Given the description of an element on the screen output the (x, y) to click on. 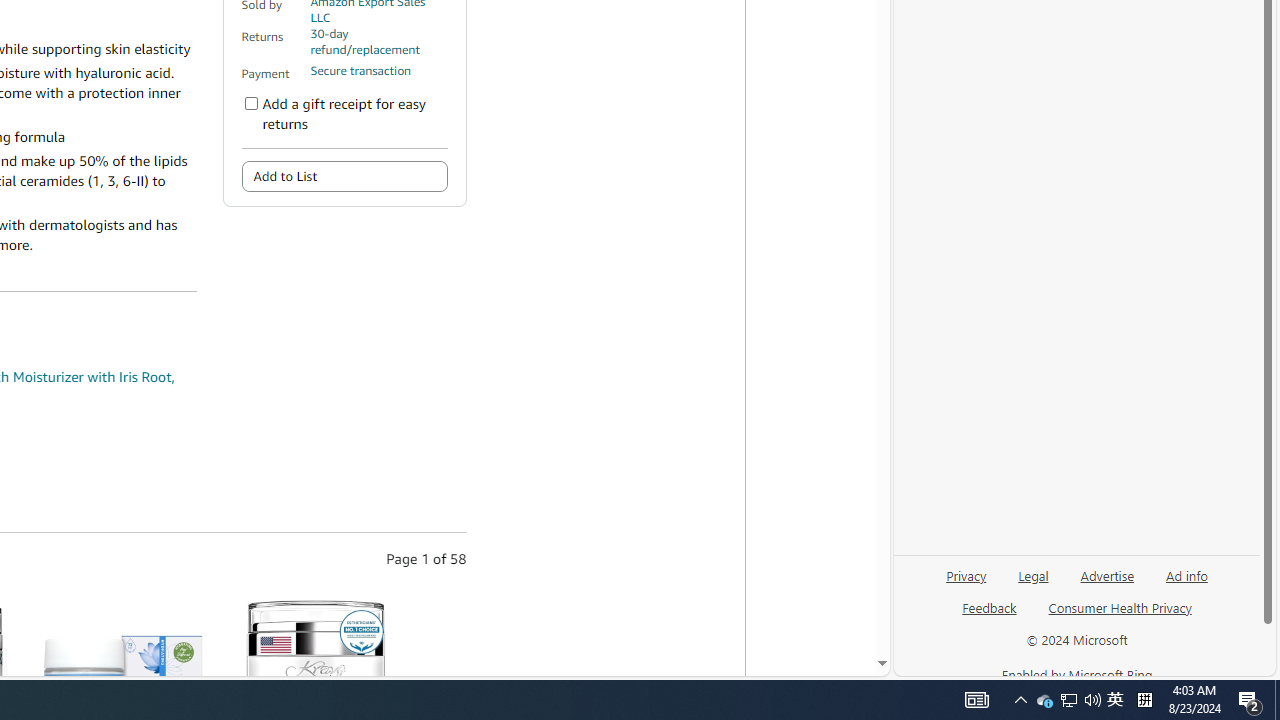
Consumer Health Privacy (1119, 615)
